Given the description of an element on the screen output the (x, y) to click on. 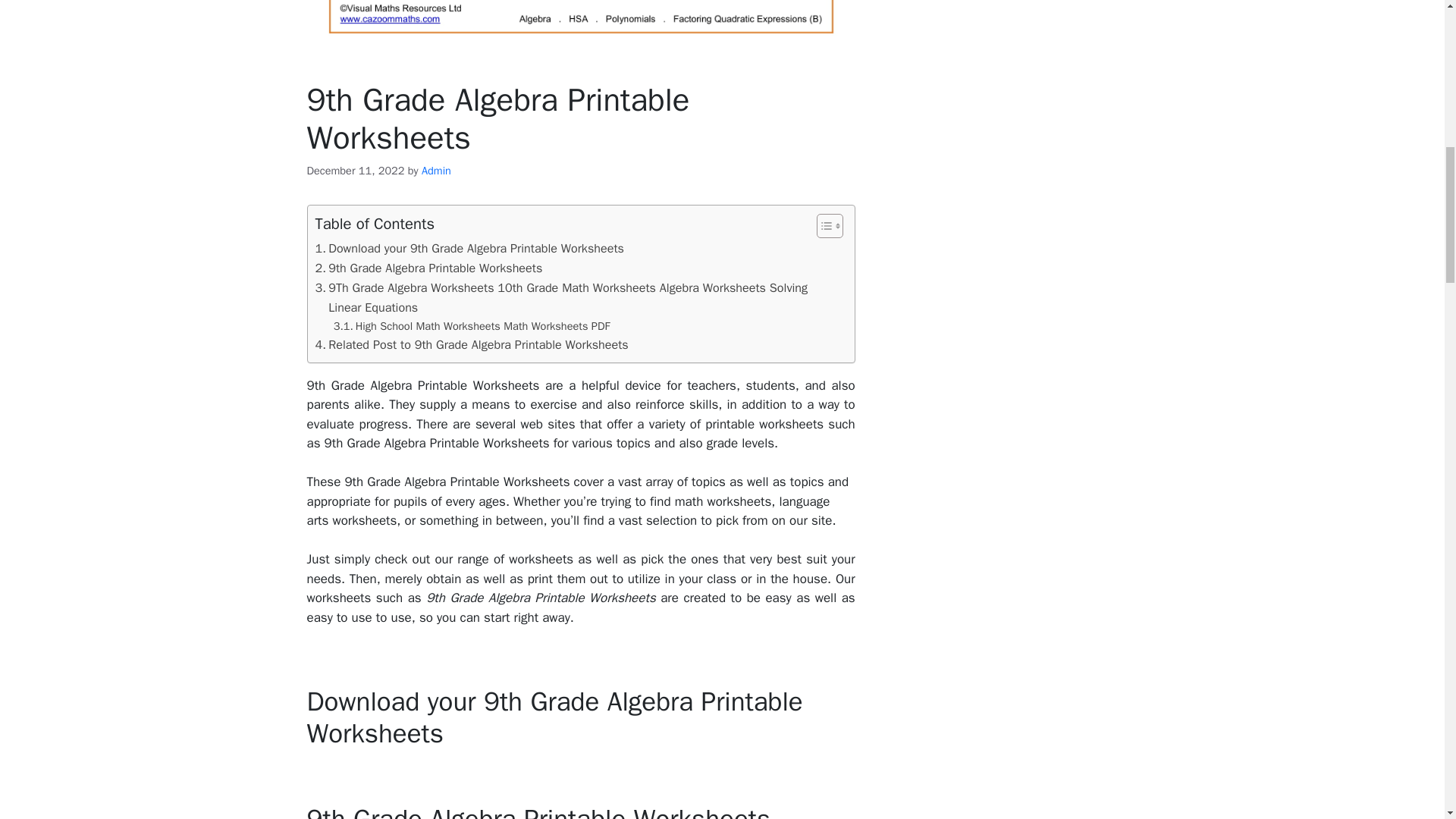
Download your 9th Grade Algebra Printable Worksheets (469, 248)
Related Post to 9th Grade Algebra Printable Worksheets (471, 344)
Admin (436, 170)
Download your 9th Grade Algebra Printable Worksheets (469, 248)
9th Grade Algebra Printable Worksheets (429, 268)
High School Math Worksheets Math Worksheets PDF (471, 325)
High School Math Worksheets Math Worksheets PDF (471, 325)
View all posts by Admin (436, 170)
9th Grade Algebra Printable Worksheets (429, 268)
Related Post to 9th Grade Algebra Printable Worksheets (471, 344)
